Given the description of an element on the screen output the (x, y) to click on. 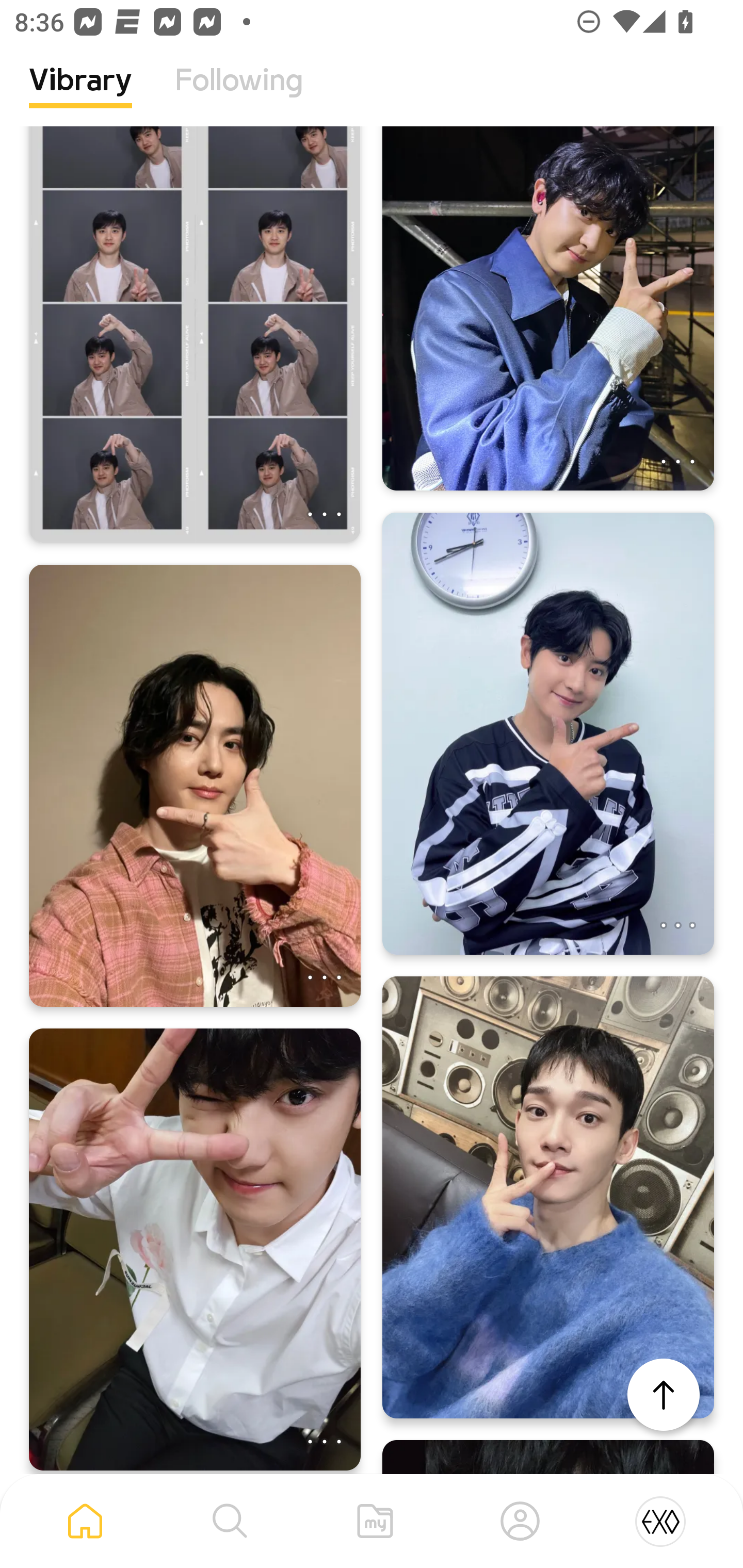
Vibrary (80, 95)
Following (239, 95)
